Given the description of an element on the screen output the (x, y) to click on. 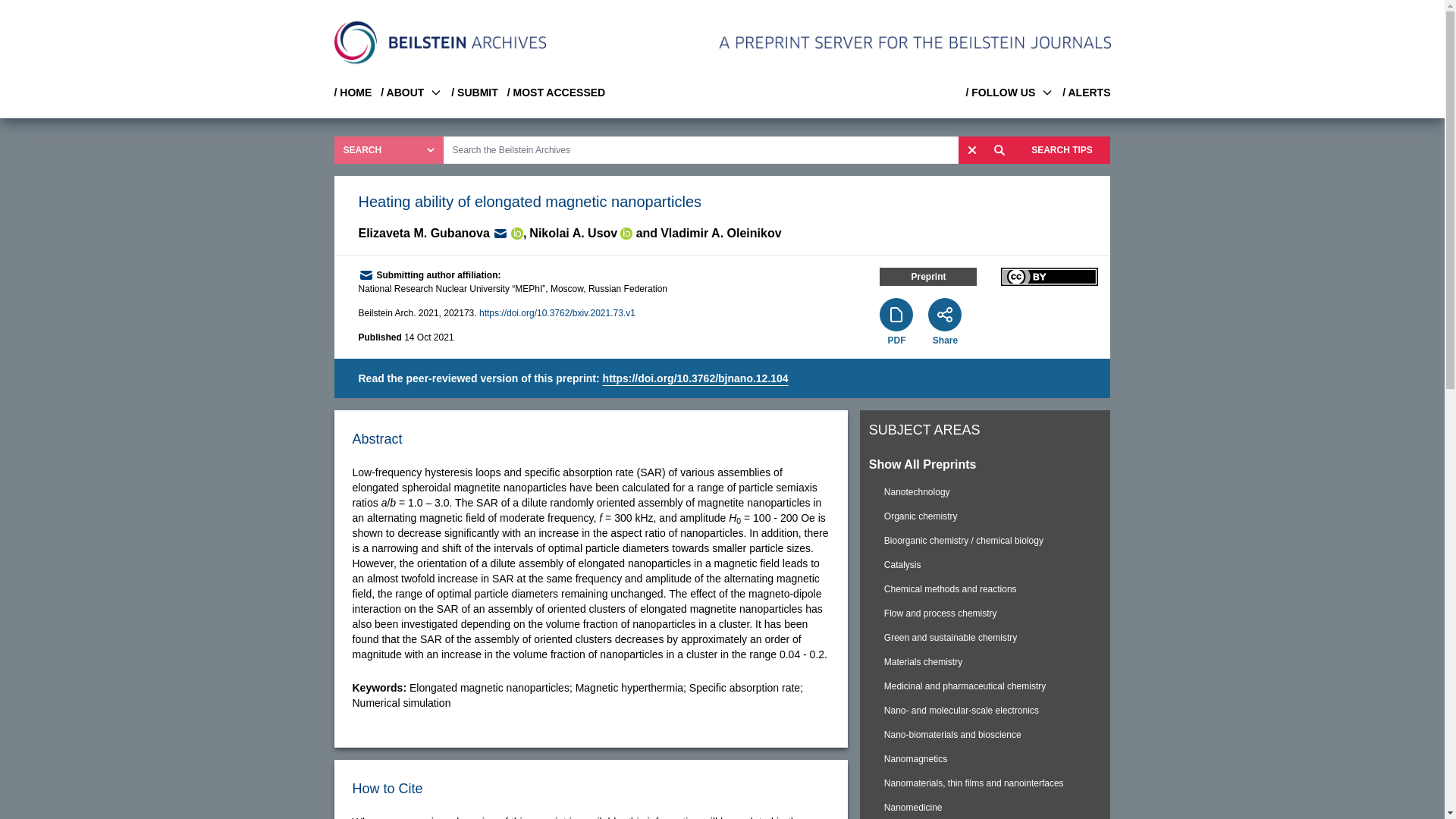
Organic chemistry (985, 516)
Clear (971, 149)
SEARCH TIPS (1061, 149)
PDF (895, 340)
Search (999, 149)
search (999, 149)
Nanotechnology (985, 491)
Show All Preprints (985, 464)
Share (944, 340)
Search Tips (1061, 149)
